Given the description of an element on the screen output the (x, y) to click on. 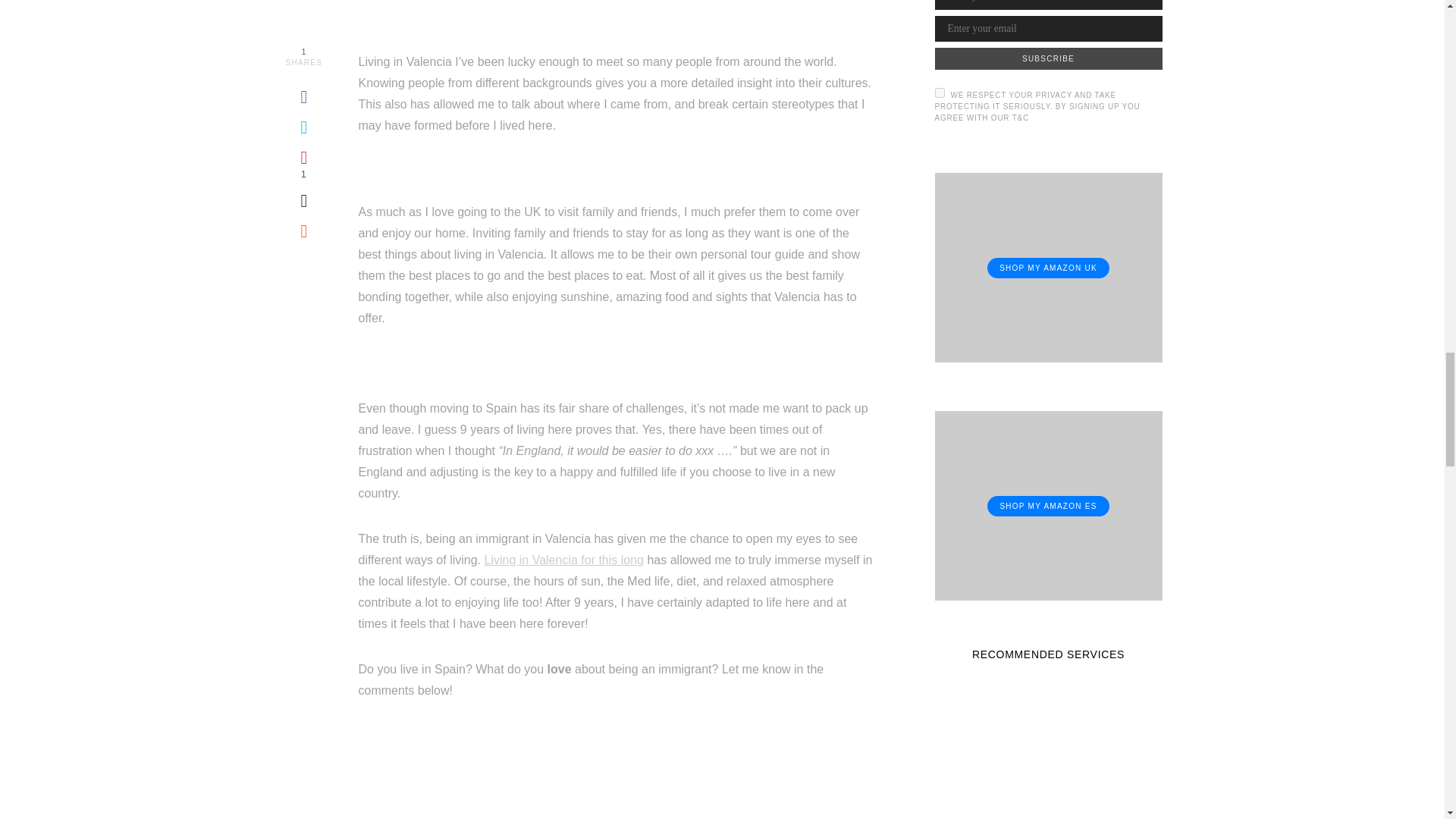
on (938, 92)
